Given the description of an element on the screen output the (x, y) to click on. 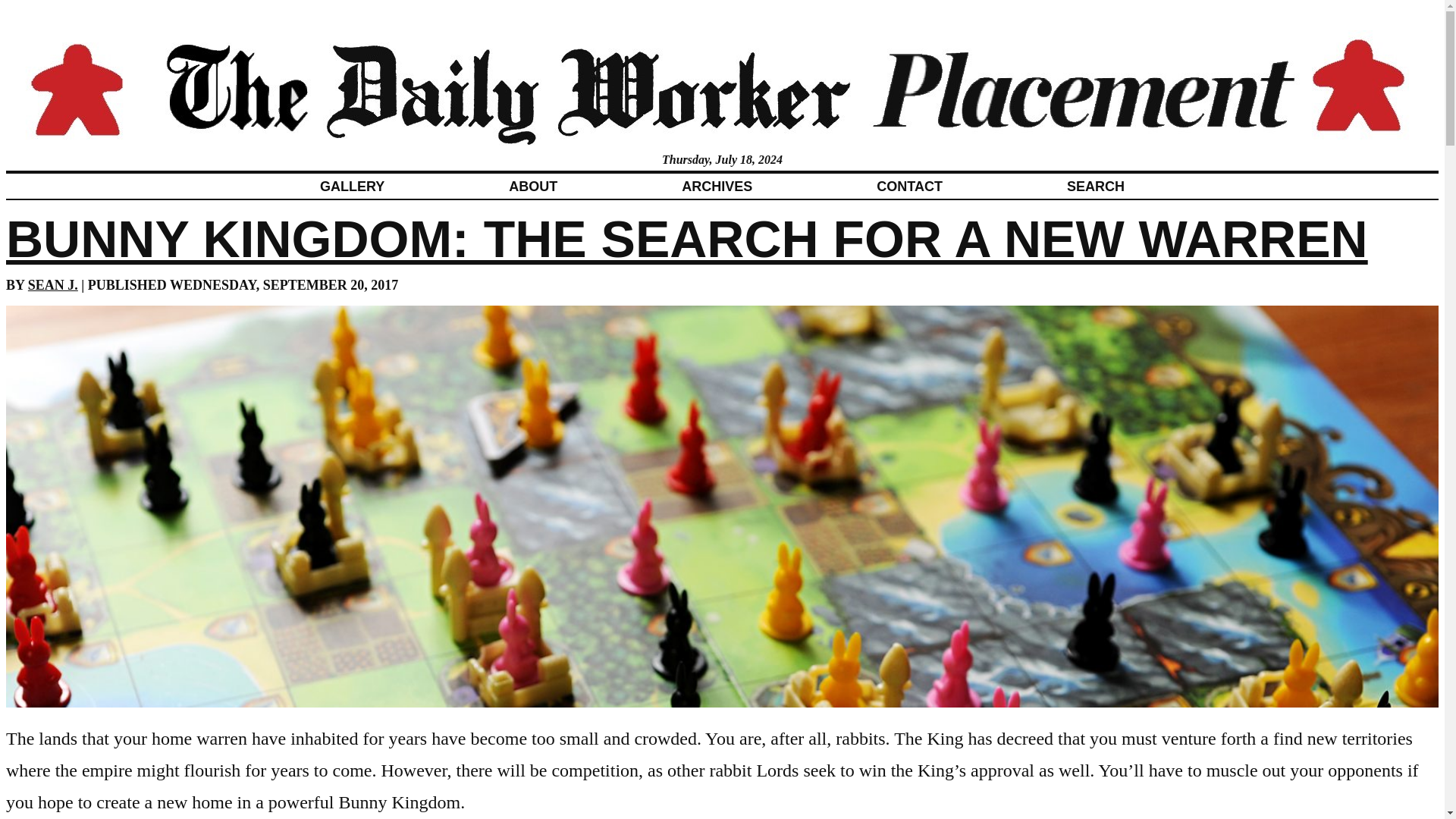
BUNNY KINGDOM: THE SEARCH FOR A NEW WARREN (686, 238)
SEARCH (1095, 186)
GALLERY (352, 186)
ABOUT (532, 186)
CONTACT (909, 186)
SEAN J. (52, 284)
ARCHIVES (716, 186)
